Given the description of an element on the screen output the (x, y) to click on. 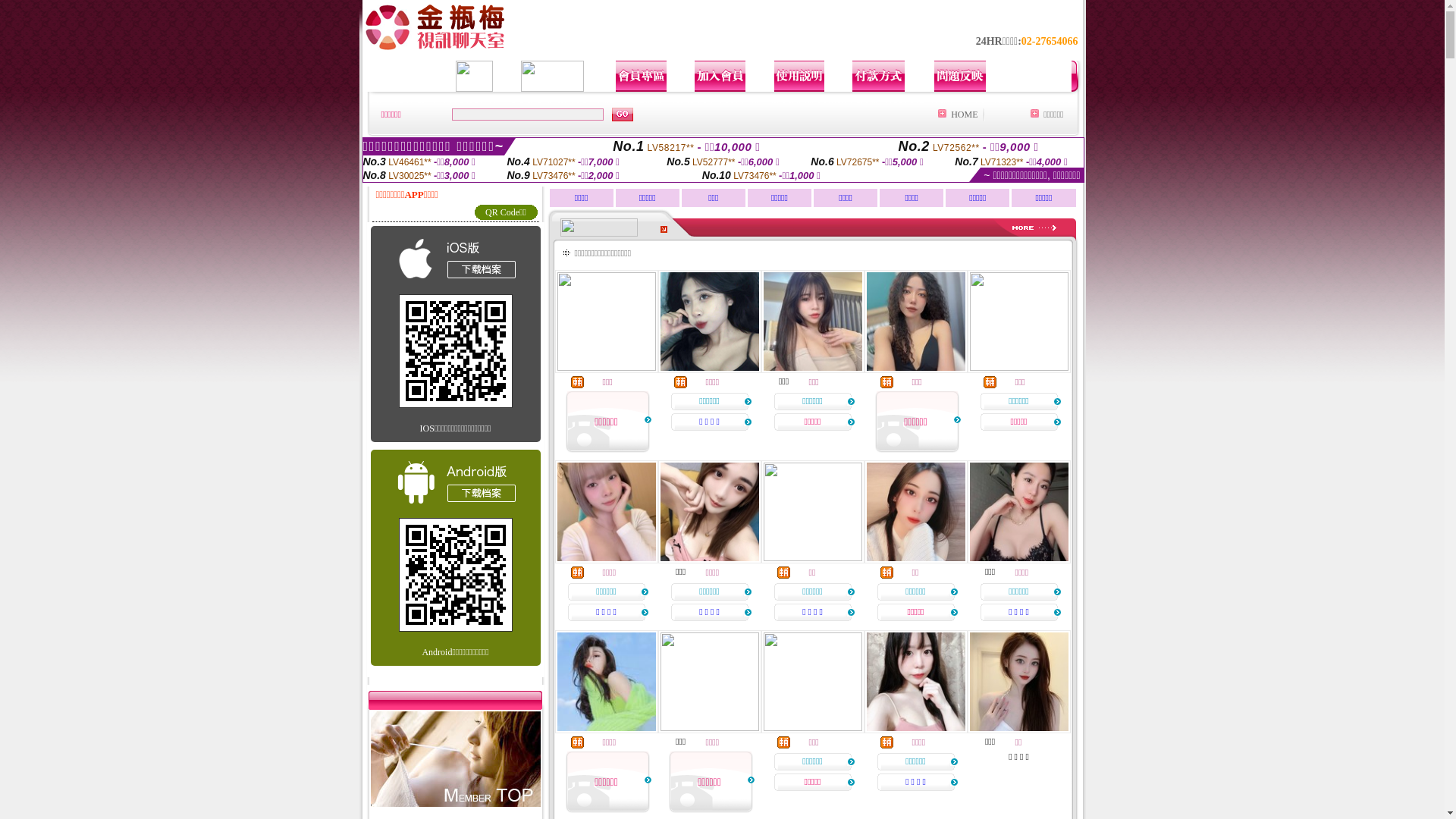
HOME Element type: text (963, 114)
